Given the description of an element on the screen output the (x, y) to click on. 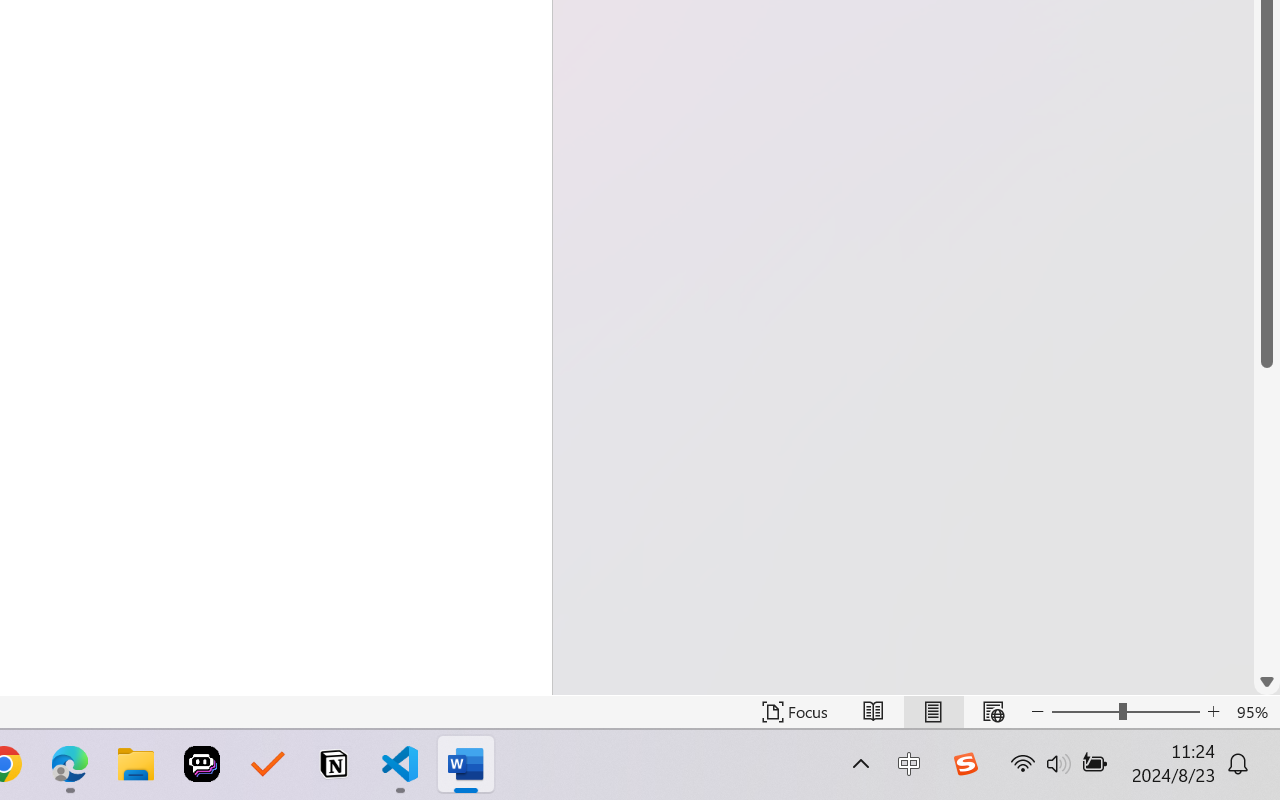
Zoom 95% (1253, 712)
